Given the description of an element on the screen output the (x, y) to click on. 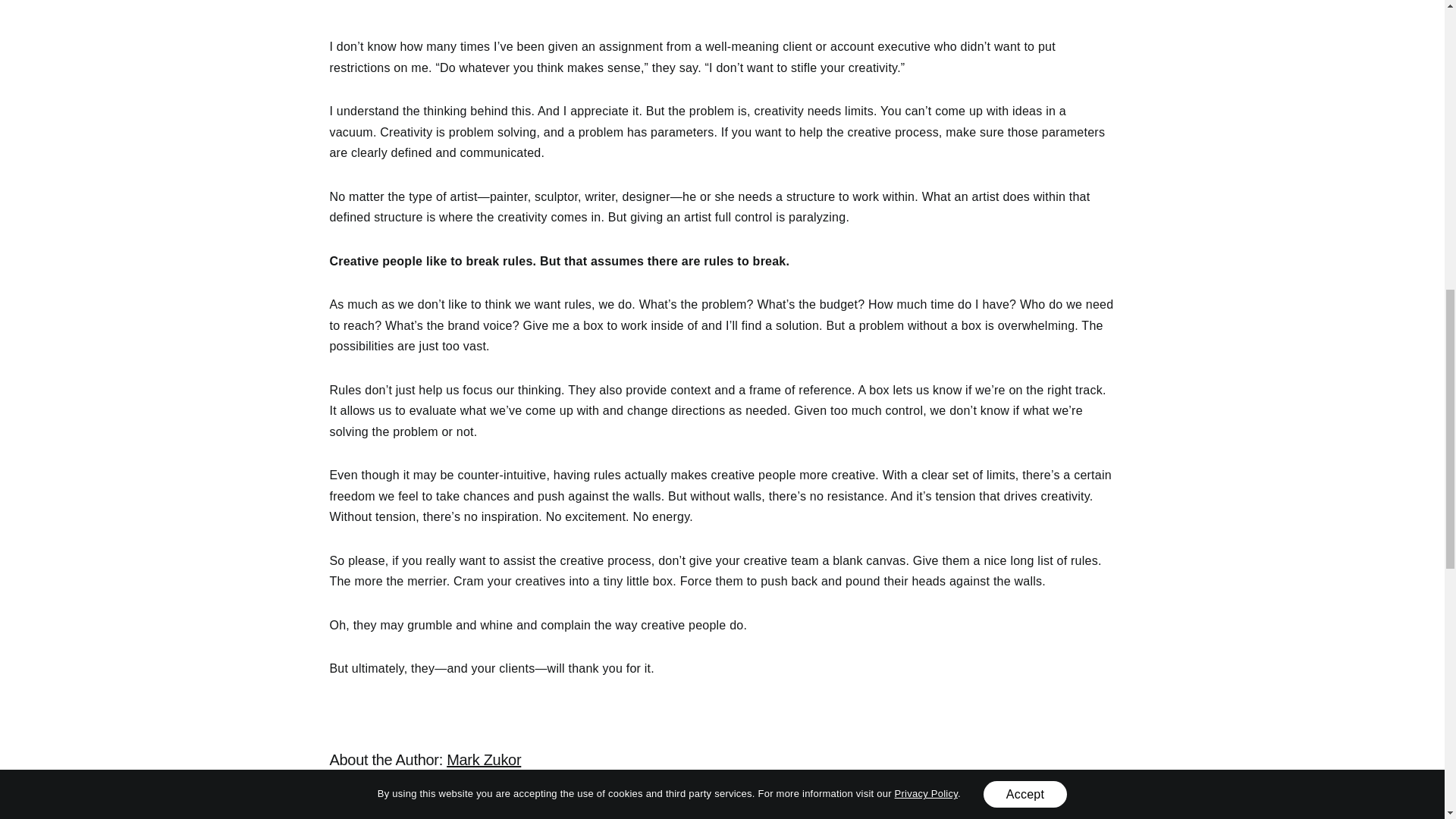
Mark Zukor (483, 759)
